Given the description of an element on the screen output the (x, y) to click on. 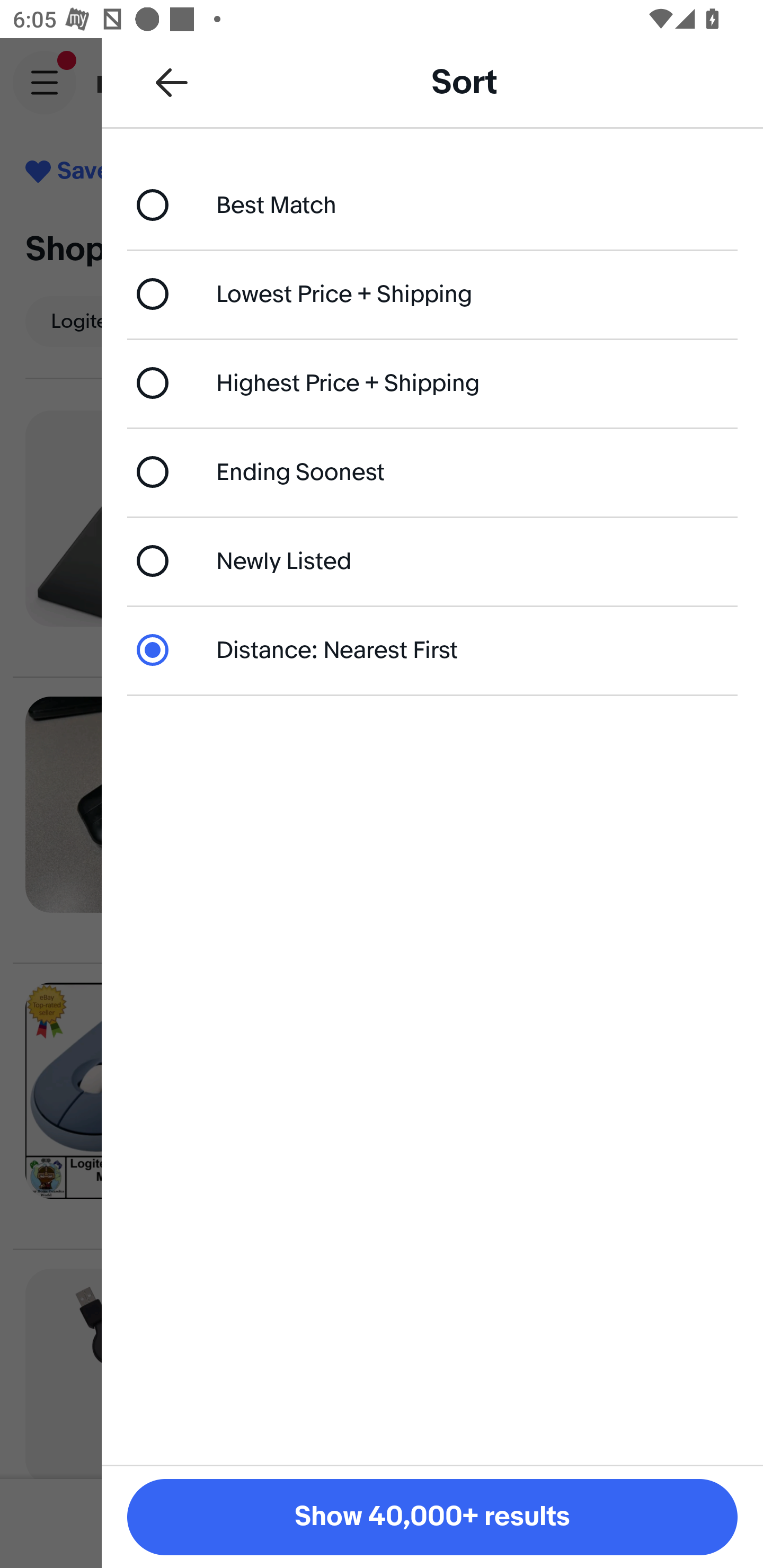
Back to all refinements (171, 81)
Best Match (432, 204)
Lowest Price + Shipping (432, 293)
Highest Price + Shipping (432, 383)
Ending Soonest (432, 471)
Newly Listed (432, 560)
Show 40,000+ results (432, 1516)
